Given the description of an element on the screen output the (x, y) to click on. 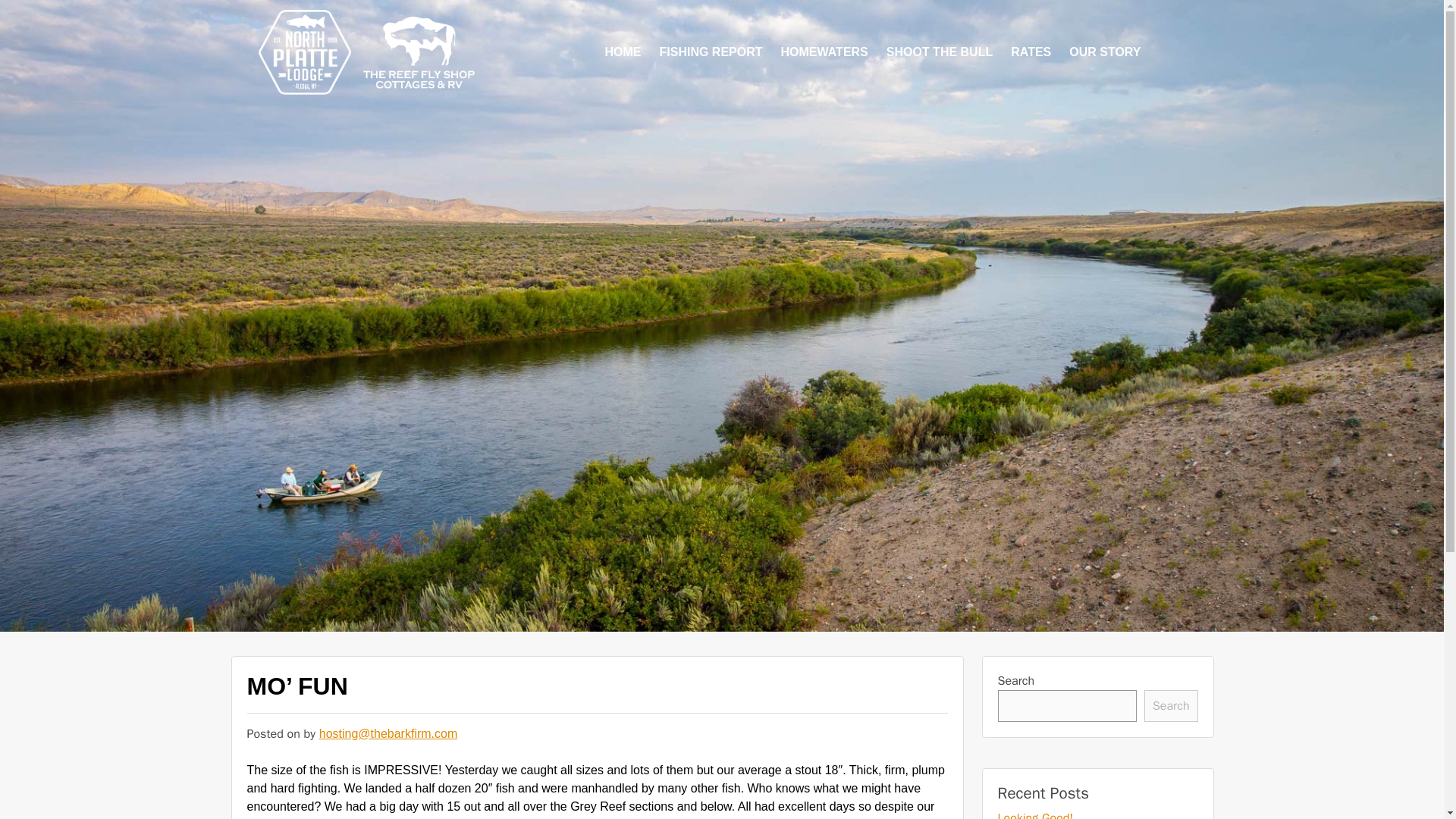
HOME (622, 51)
OUR STORY (1104, 51)
RATES (1030, 51)
HOMEWATERS (824, 51)
Search (1171, 705)
Looking Good! (1035, 814)
SHOOT THE BULL (939, 51)
FISHING REPORT (710, 51)
